Given the description of an element on the screen output the (x, y) to click on. 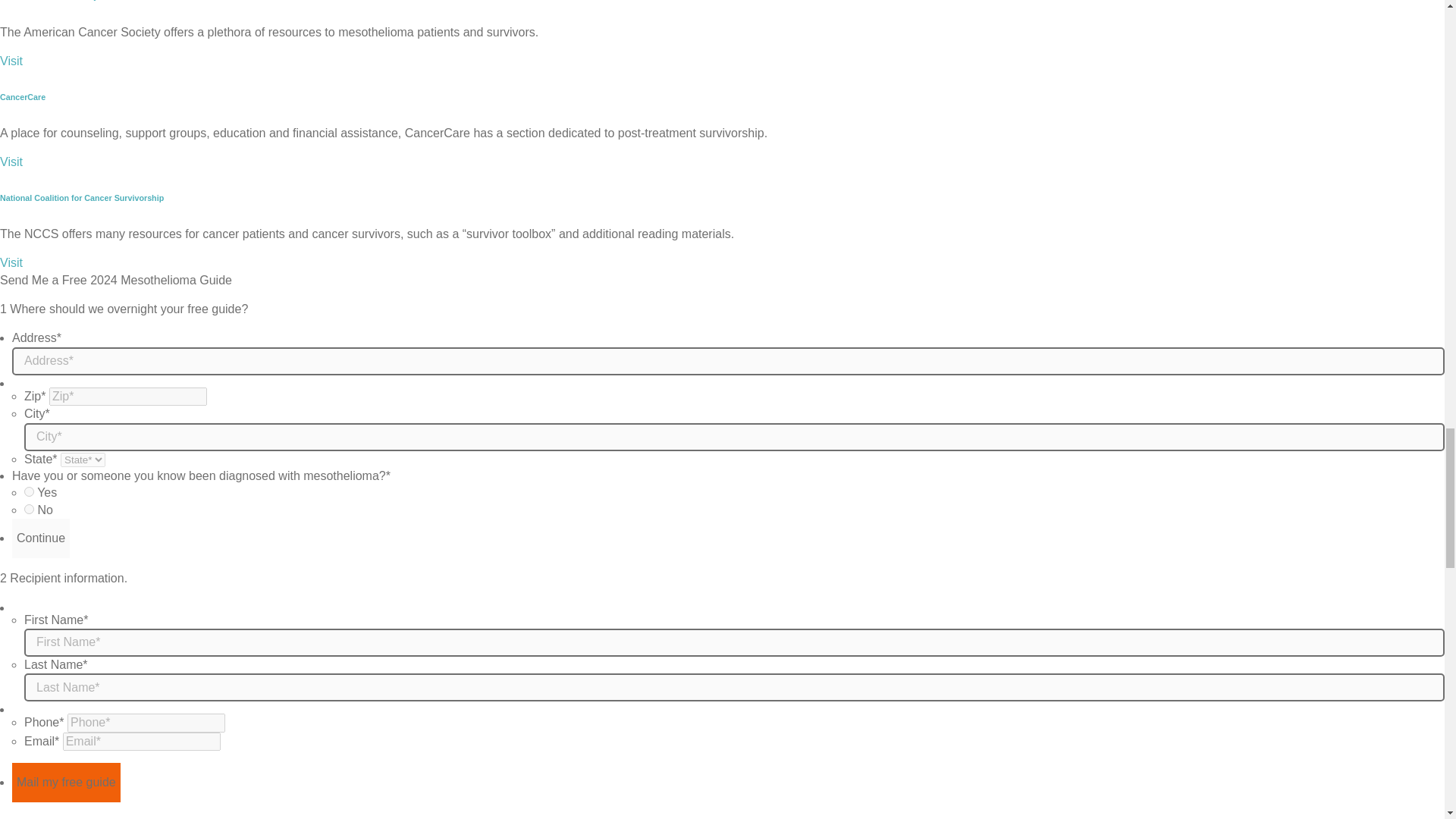
Enter your phone number. (145, 722)
No (28, 509)
Enter your email address. (141, 741)
Select your state. (82, 459)
Yes (28, 491)
Enter your zip code. (127, 396)
